Given the description of an element on the screen output the (x, y) to click on. 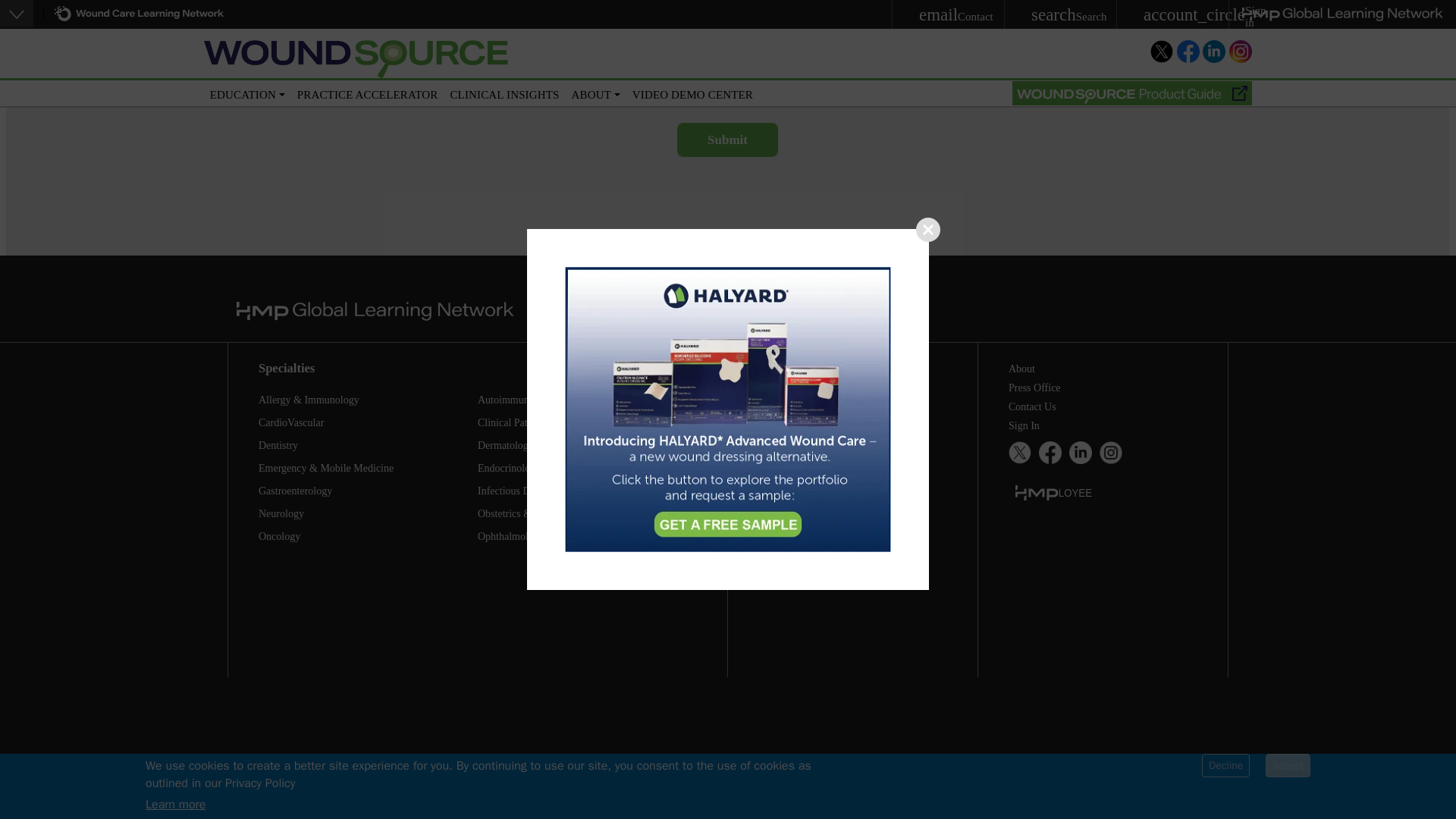
Submit (727, 140)
